Given the description of an element on the screen output the (x, y) to click on. 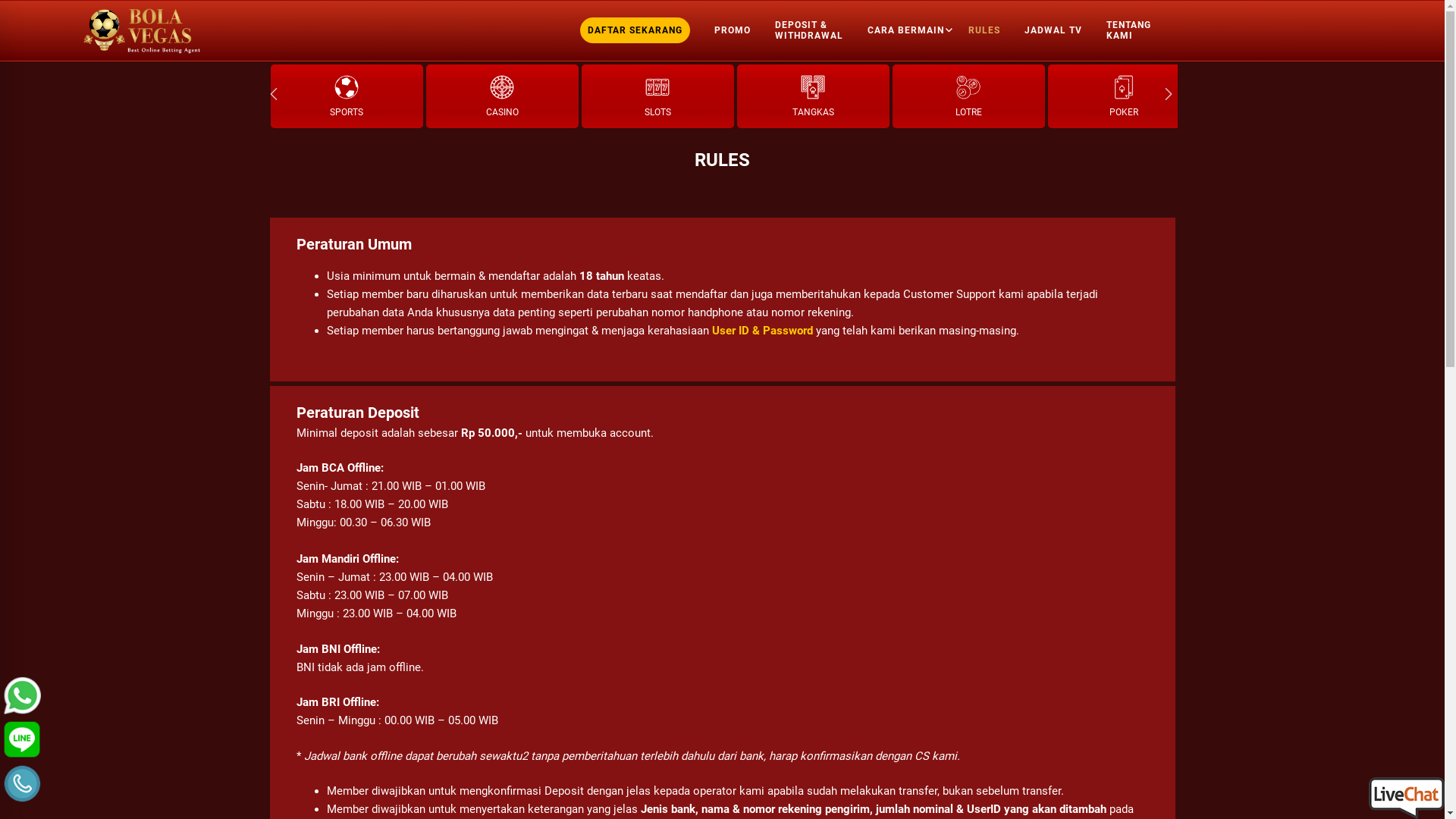
SPORTS Element type: text (345, 96)
CASINO Element type: text (502, 96)
JADWAL TV Element type: text (1056, 29)
TENTANG
KAMI Element type: text (1132, 30)
CARA BERMAIN Element type: text (910, 29)
LOTRE Element type: text (967, 96)
RULES Element type: text (987, 29)
TANGKAS Element type: text (813, 96)
DEPOSIT &
WITHDRAWAL Element type: text (813, 30)
DAFTAR SEKARANG Element type: text (638, 29)
PROMO Element type: text (736, 29)
POKER Element type: text (1124, 96)
SLOTS Element type: text (656, 96)
